Given the description of an element on the screen output the (x, y) to click on. 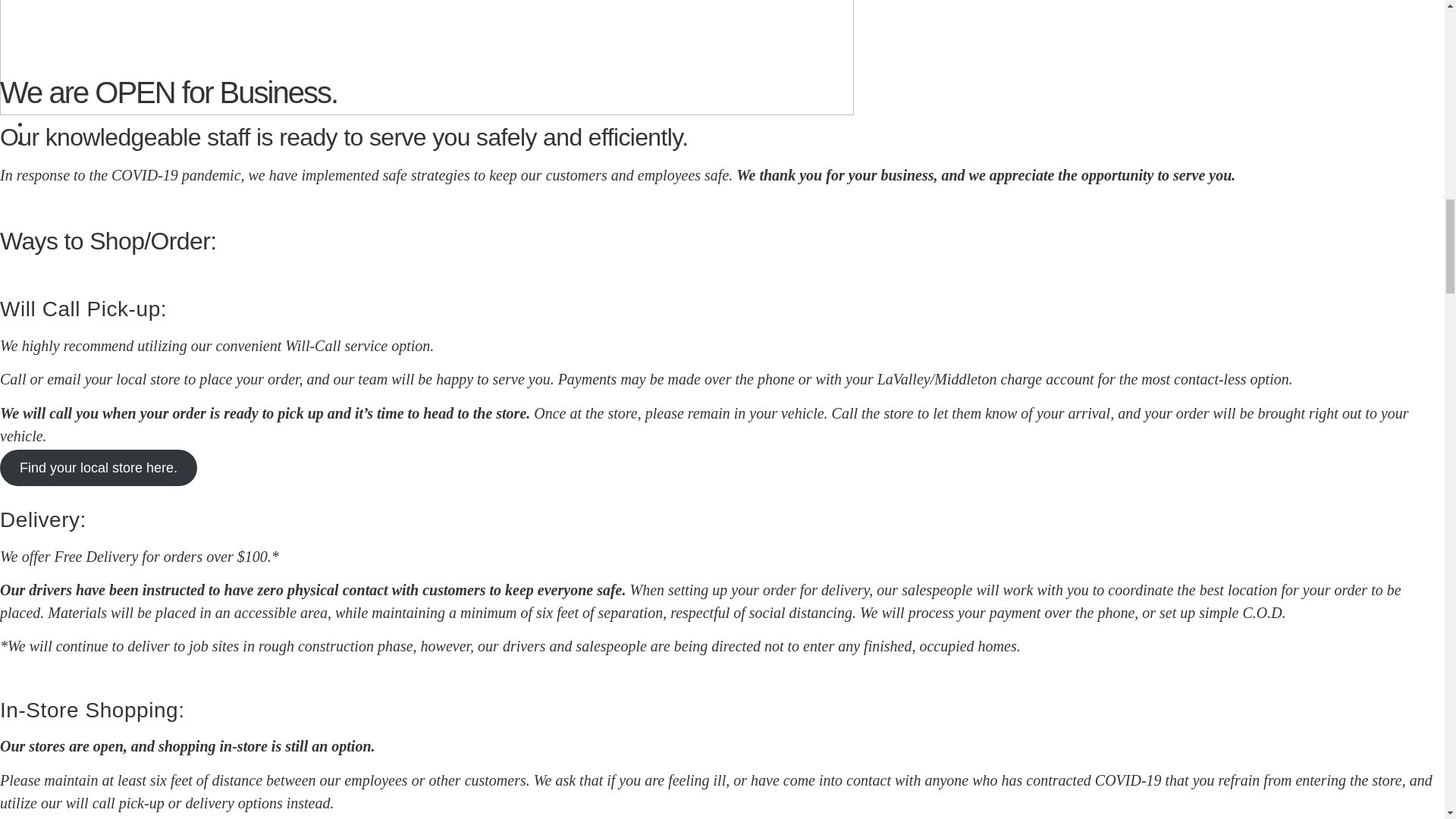
Find your local store here. (98, 467)
